Given the description of an element on the screen output the (x, y) to click on. 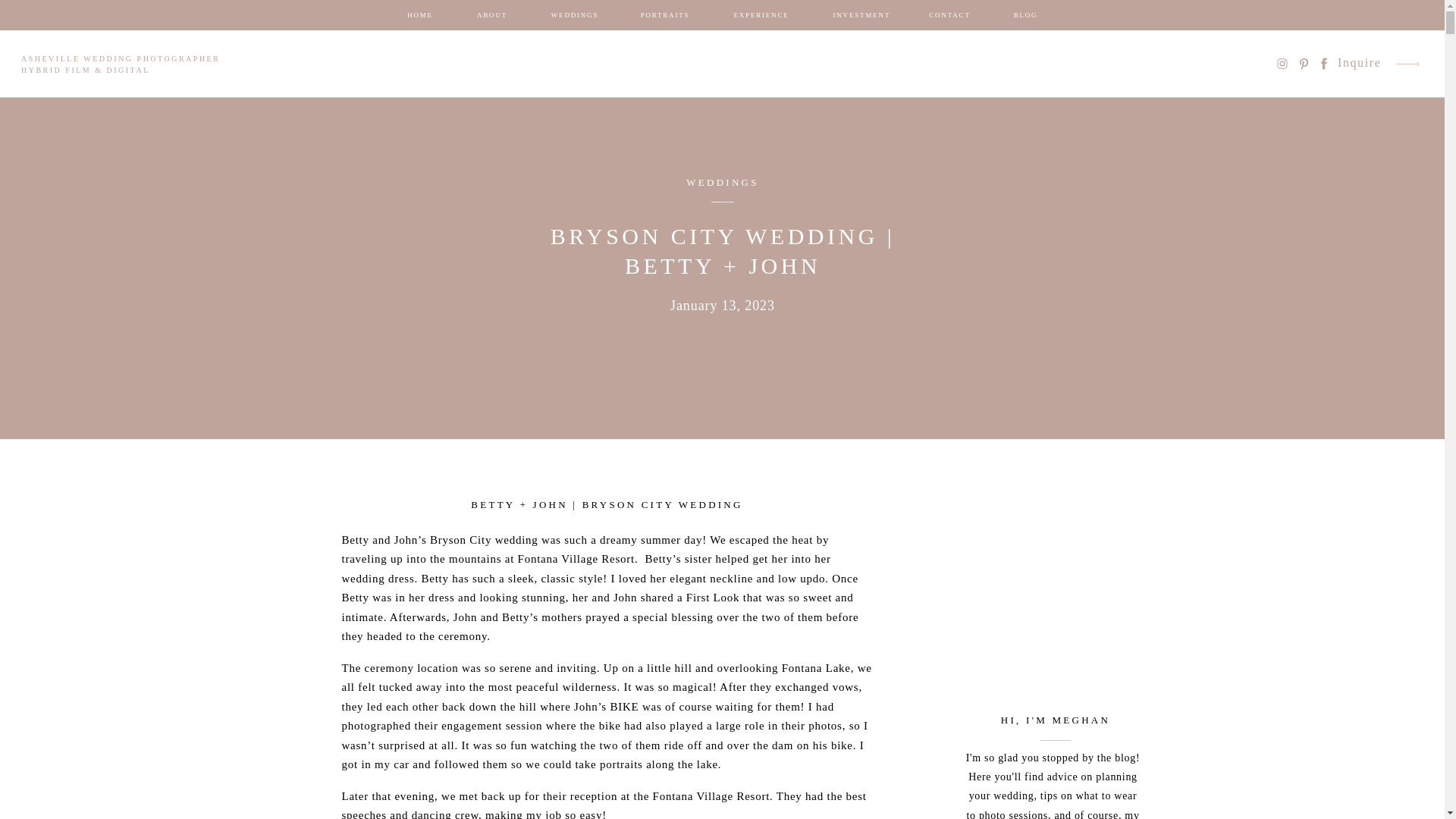
arrow (1407, 63)
ABOUT (491, 15)
WEDDINGS (721, 182)
CONTACT (949, 15)
WEDDINGS (574, 15)
Inquire  (1360, 64)
arrow (1407, 63)
BLOG (1025, 15)
PORTRAITS (664, 15)
HOME (419, 15)
INVESTMENT (859, 15)
EXPERIENCE (761, 15)
